Given the description of an element on the screen output the (x, y) to click on. 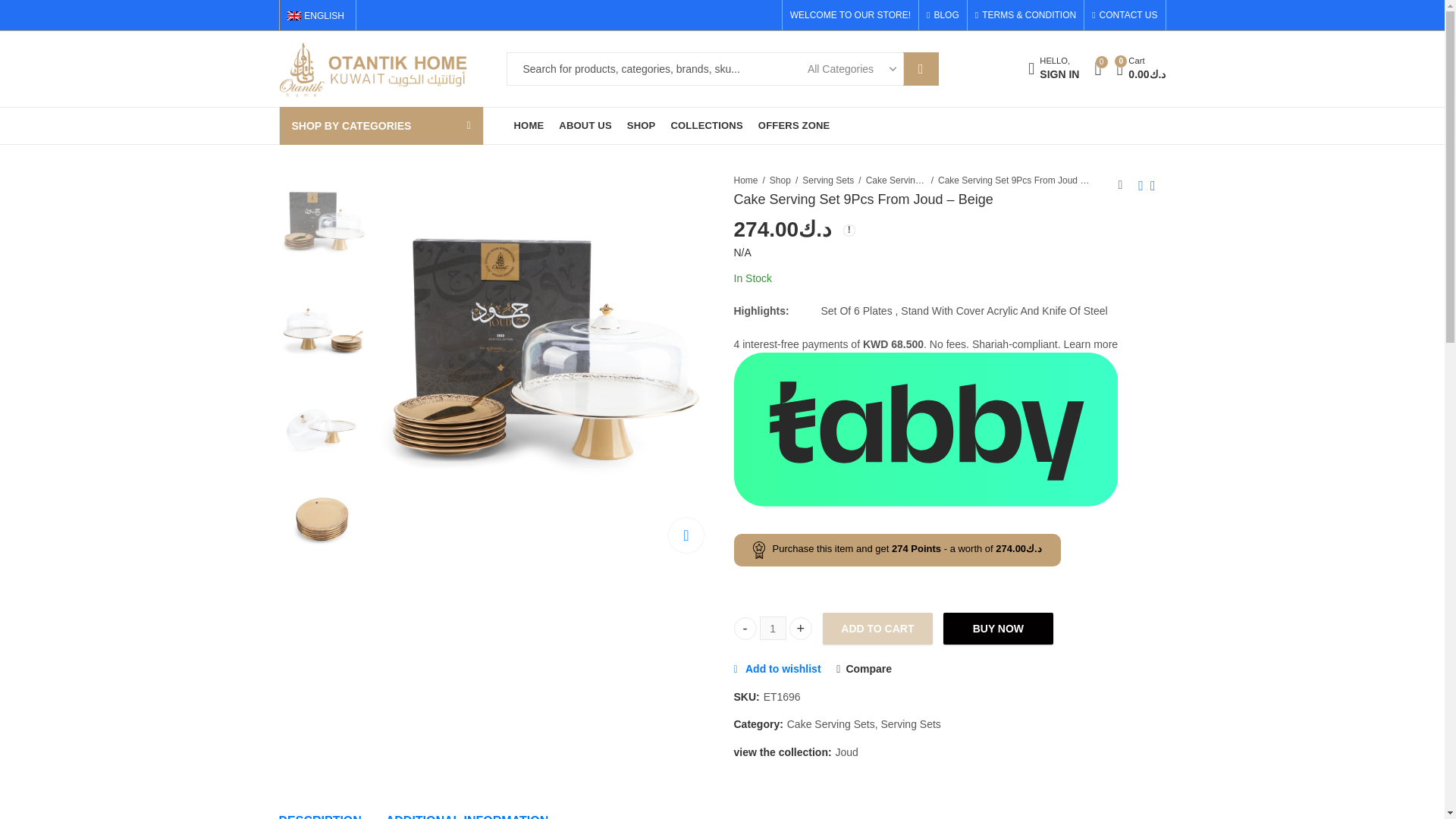
ENGLISH (316, 15)
CONTACT US (1120, 15)
- (745, 628)
ET1696.jpg (545, 342)
1 (773, 627)
Qty (1052, 69)
BLOG (773, 627)
SEARCH (946, 15)
